Given the description of an element on the screen output the (x, y) to click on. 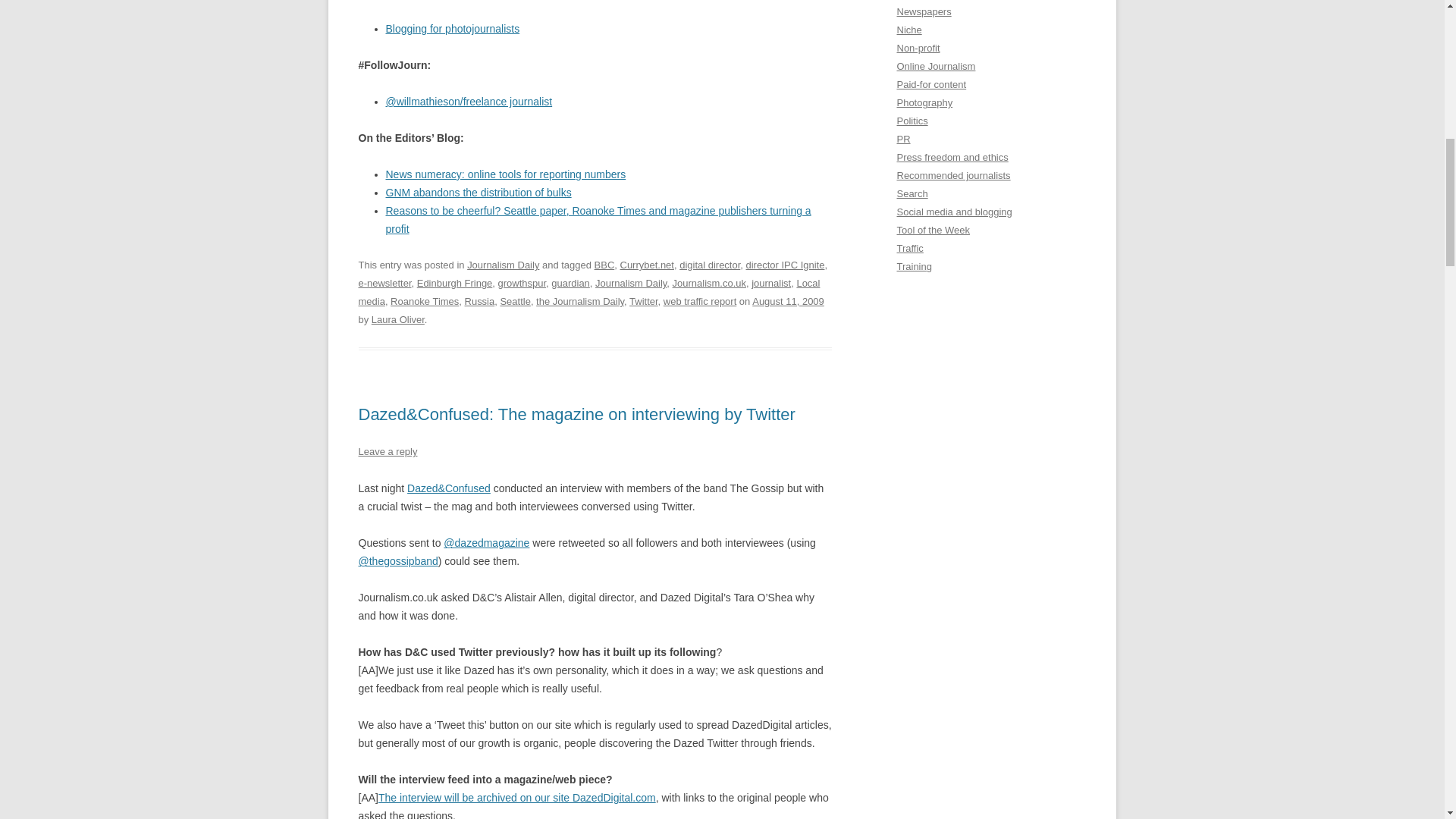
Russia (479, 301)
Journalism Daily (502, 265)
Blogging for photojournalists (452, 28)
Currybet.net (647, 265)
the Journalism Daily (579, 301)
View all posts by Laura Oliver (398, 319)
News numeracy: online tools for reporting numbers (505, 174)
Seattle (514, 301)
director IPC Ignite (785, 265)
5:19 pm (788, 301)
